Given the description of an element on the screen output the (x, y) to click on. 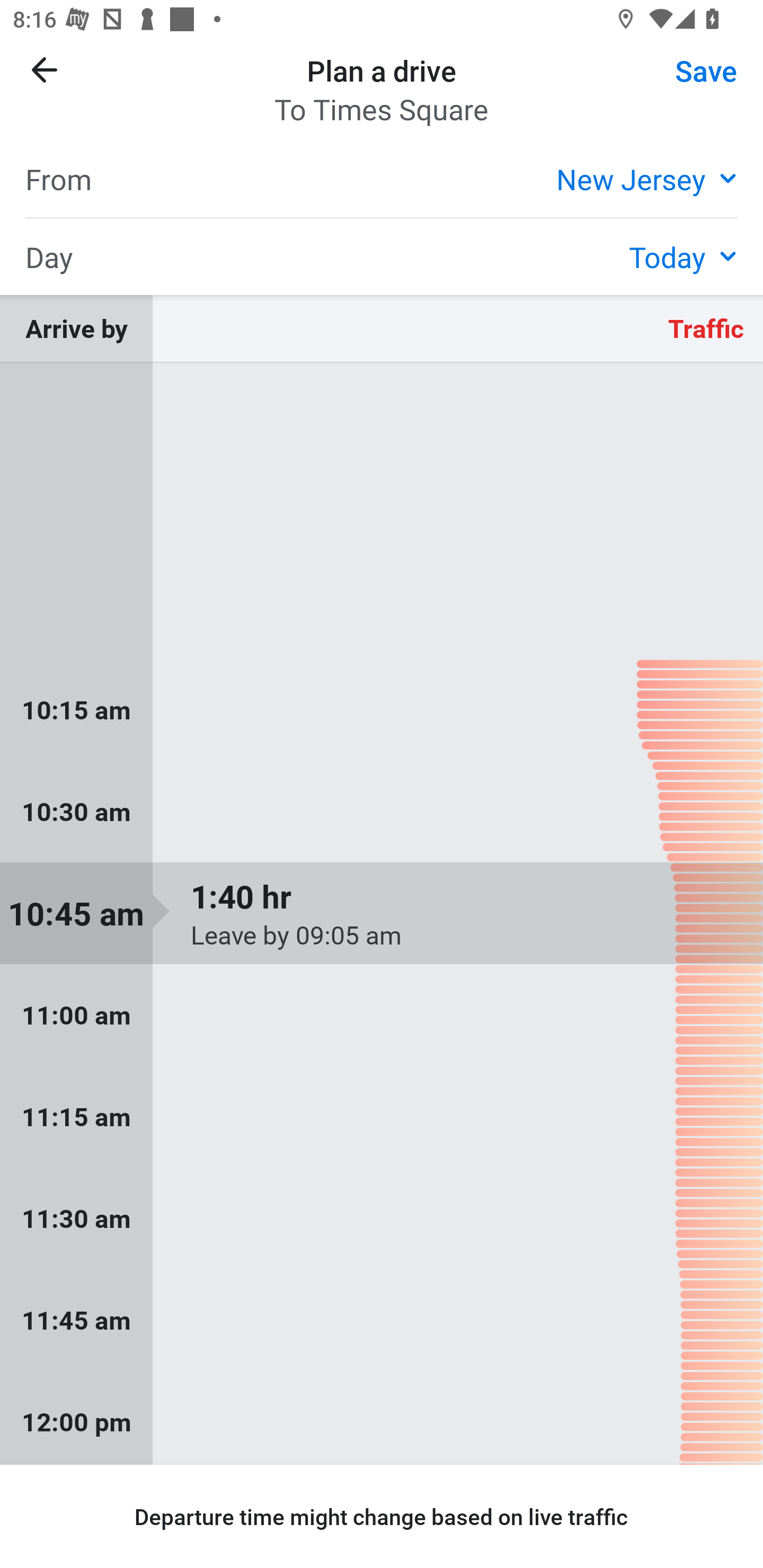
Settings (690, 82)
New Jersey (646, 178)
Today (682, 255)
10:15 am (381, 709)
10:30 am (381, 811)
10:45 am 1:40 hr Leave by 09:05 am (381, 913)
11:00 am (381, 1015)
11:15 am (381, 1117)
11:30 am (381, 1218)
11:45 am (381, 1319)
12:00 pm (381, 1417)
